Given the description of an element on the screen output the (x, y) to click on. 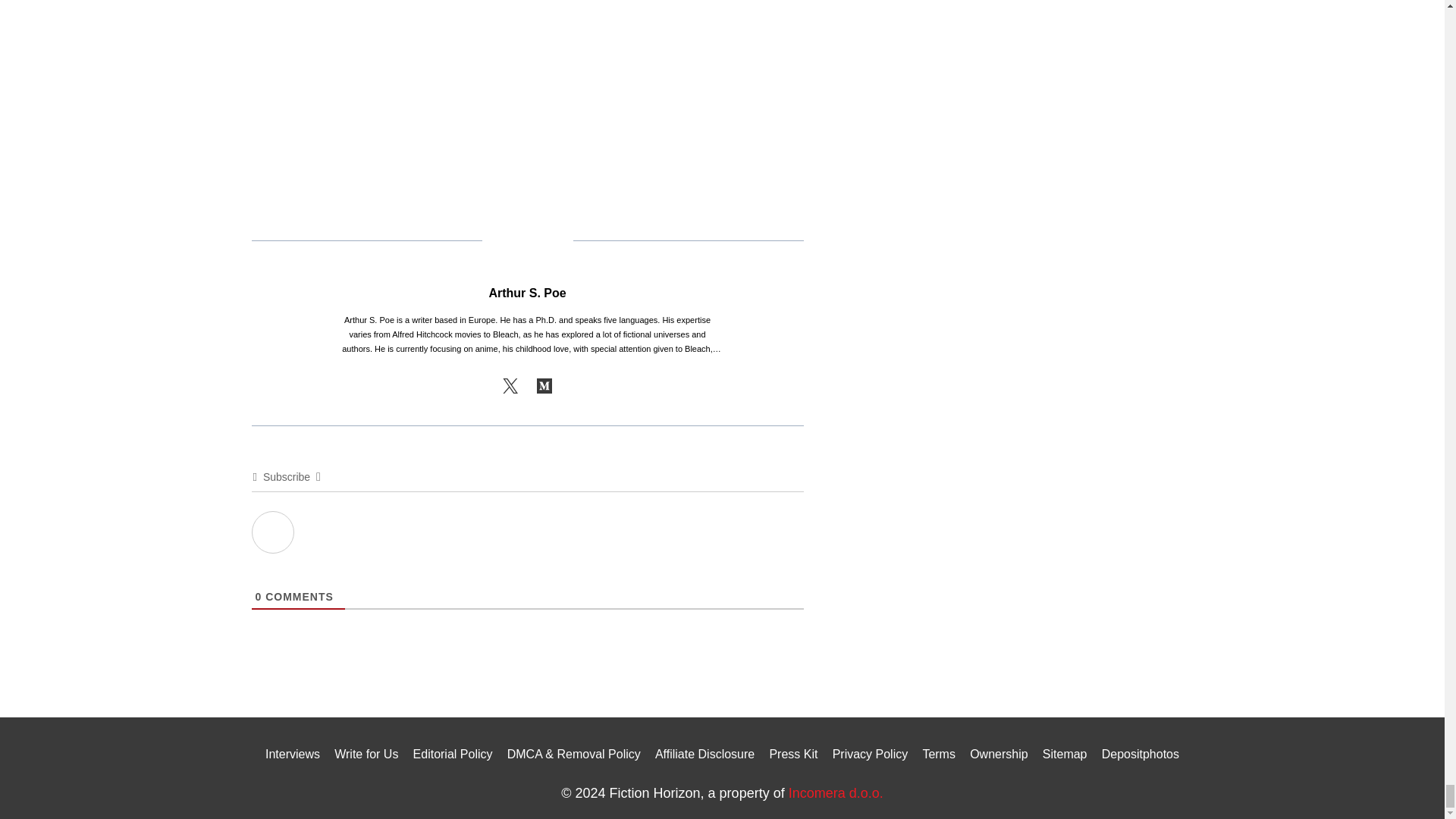
Follow Arthur S. Poe on X formerly Twitter (510, 386)
Incomera d.o.o. (836, 792)
Posts by Arthur S. Poe (526, 292)
Follow Arthur S. Poe on Medium (544, 386)
